Given the description of an element on the screen output the (x, y) to click on. 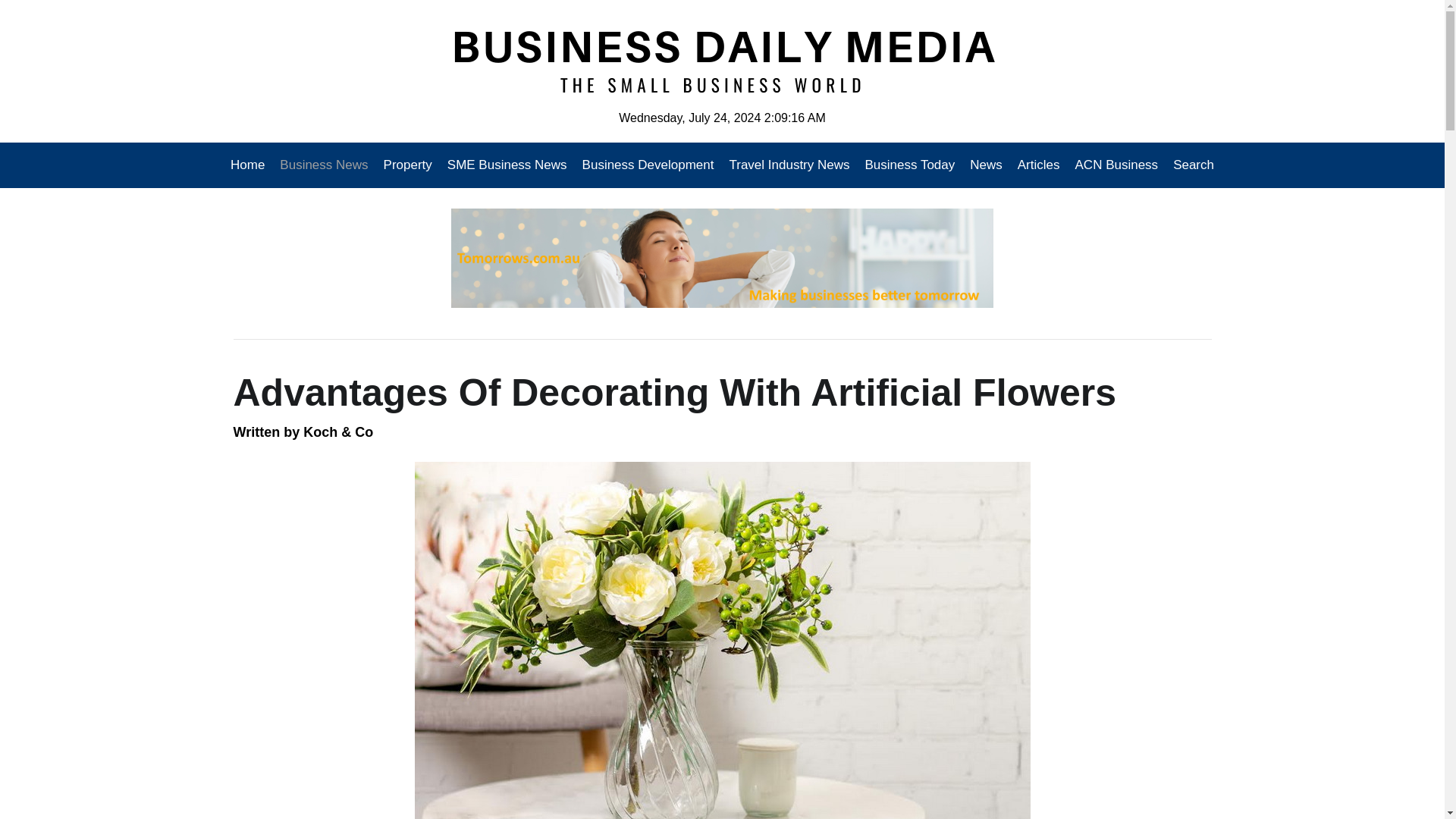
Business Today (909, 165)
News (986, 165)
Business News (323, 165)
Business Development (648, 165)
Property (407, 165)
Home (251, 165)
Travel Industry News (788, 165)
ACN Business (1116, 165)
Search (1190, 165)
Articles (1038, 165)
SME Business News (507, 165)
